Given the description of an element on the screen output the (x, y) to click on. 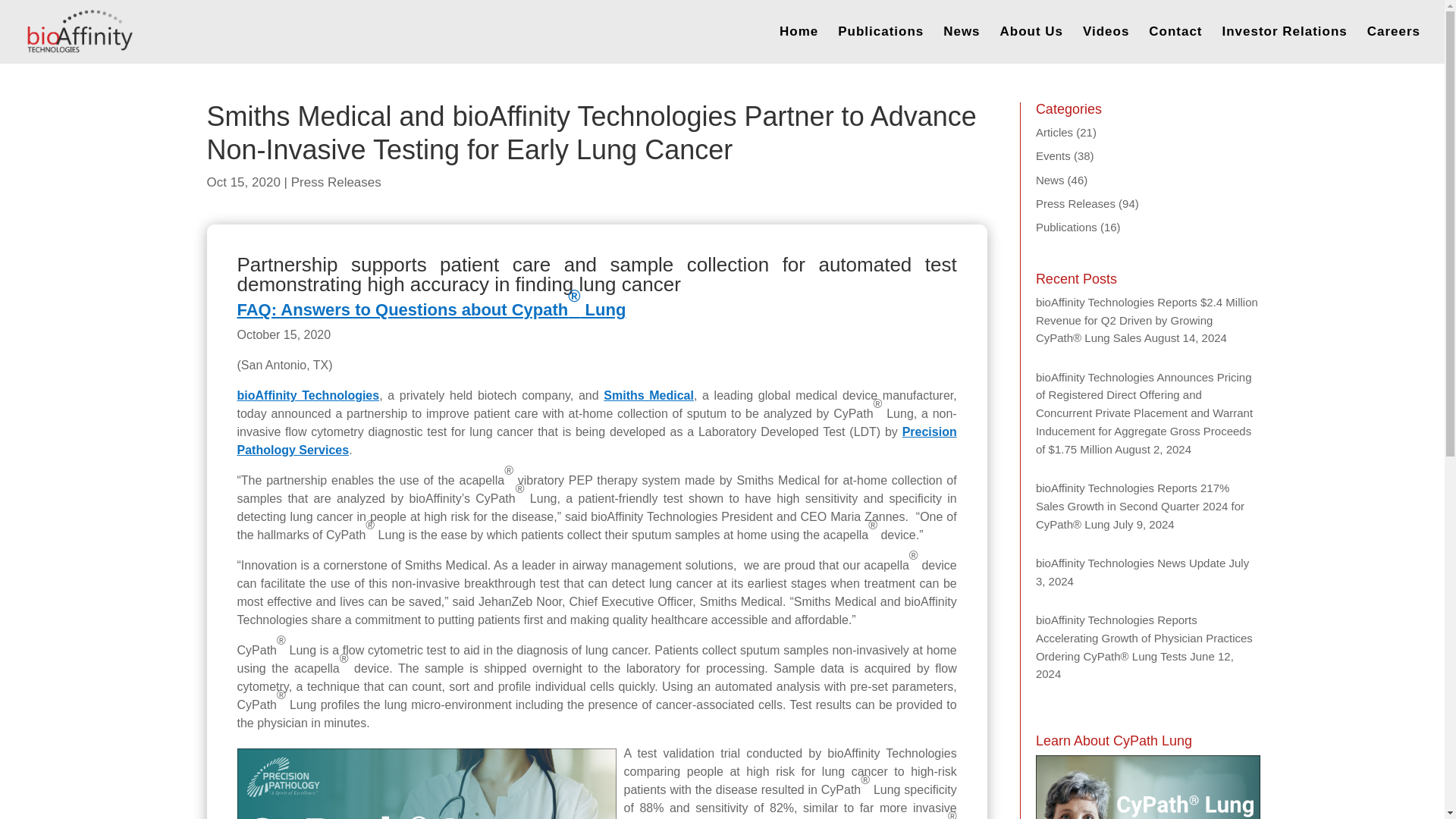
Events (1052, 155)
Careers (1394, 44)
Publications (1066, 226)
Investor Relations (1283, 44)
Publications (880, 44)
About Us (1030, 44)
Smiths Medical (649, 395)
Contact (1175, 44)
Home (798, 44)
Articles (1054, 132)
